Given the description of an element on the screen output the (x, y) to click on. 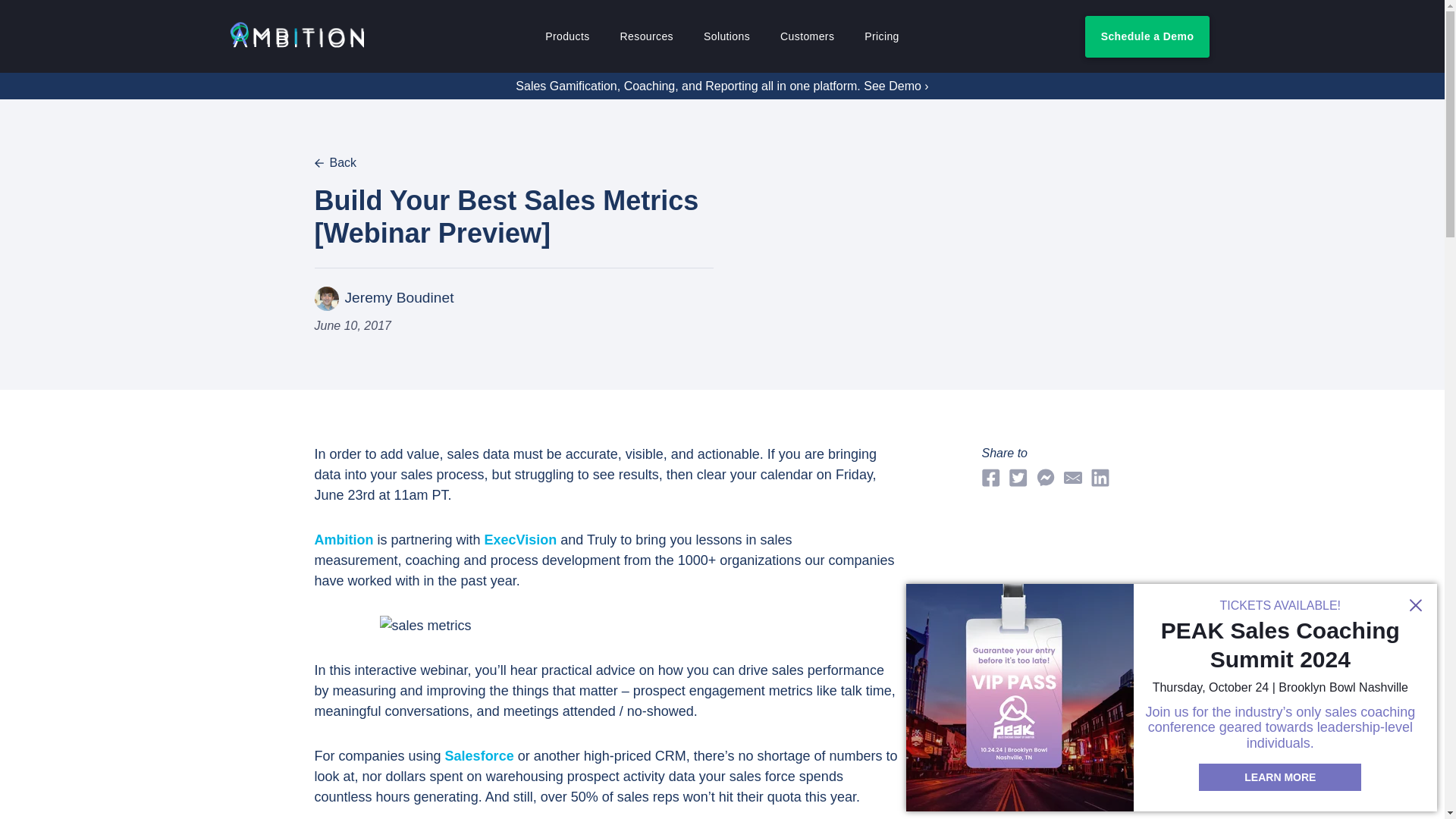
Pricing (882, 36)
Share to Twitter (1017, 477)
Resources (646, 36)
Share via E-Mail (1071, 477)
Ambition (343, 539)
Popup CTA (1171, 697)
Products (566, 36)
ExecVision (520, 539)
Solutions (726, 36)
Share to LinkedIn (1099, 477)
Share to Twitter (1044, 477)
Customers (807, 36)
Back (335, 162)
Ambition (296, 35)
Salesforce (479, 755)
